Given the description of an element on the screen output the (x, y) to click on. 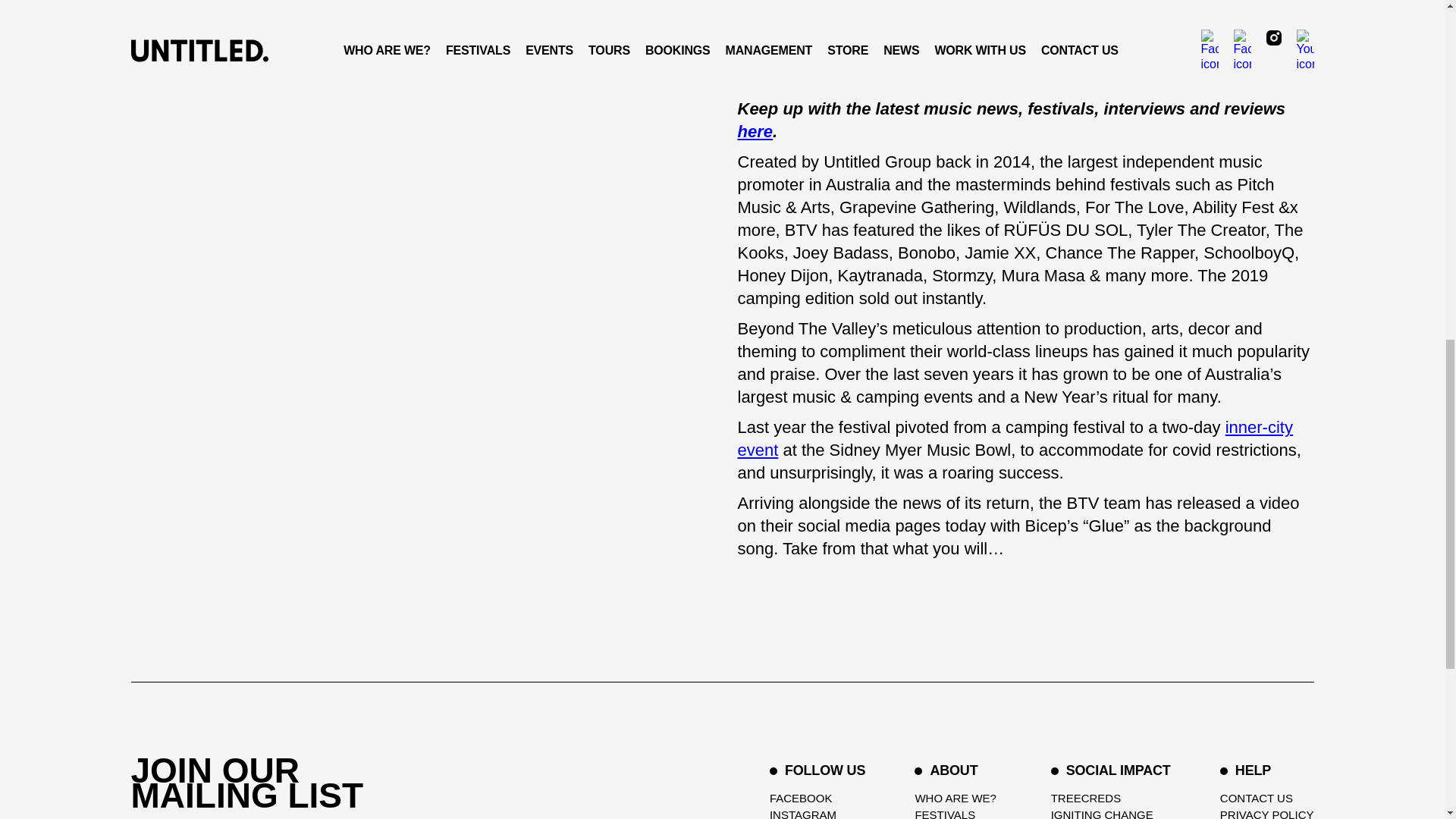
here (753, 131)
WHO ARE WE? (957, 798)
INSTAGRAM (817, 813)
FESTIVALS (957, 813)
inner-city event (1014, 438)
FACEBOOK (817, 798)
